Given the description of an element on the screen output the (x, y) to click on. 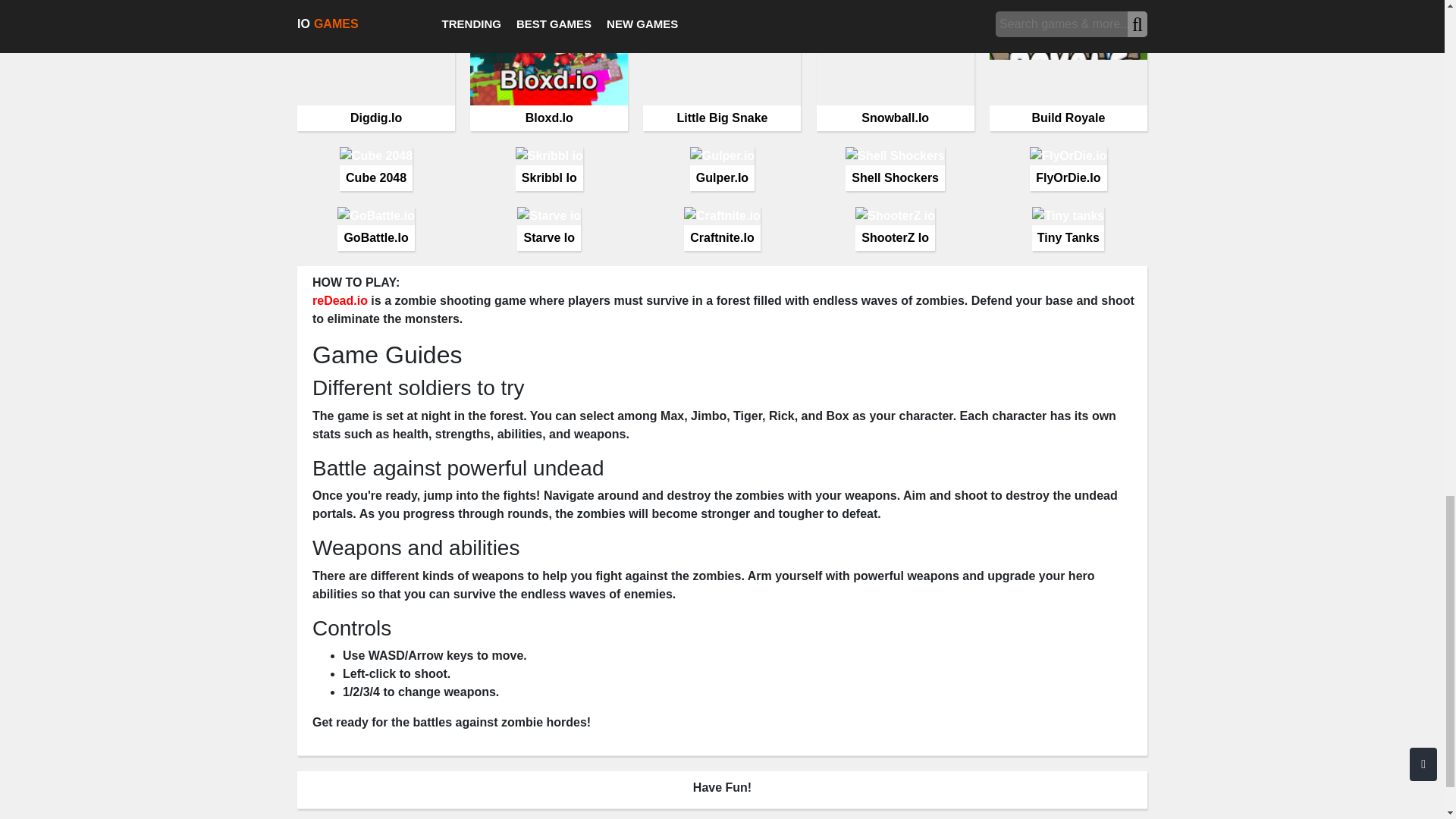
Gulper.Io (721, 168)
Cube 2048 (375, 168)
Bloxd.Io (548, 65)
Shell Shockers (895, 168)
Skribbl Io (548, 168)
Snowball.Io (895, 65)
Little Big Snake (721, 65)
Build Royale (1068, 65)
ShooterZ Io (895, 228)
Tiny Tanks (1068, 228)
Starve Io (548, 228)
FlyOrDie.Io (1068, 168)
Digdig.Io (375, 65)
Craftnite.Io (721, 228)
GoBattle.Io (375, 228)
